Given the description of an element on the screen output the (x, y) to click on. 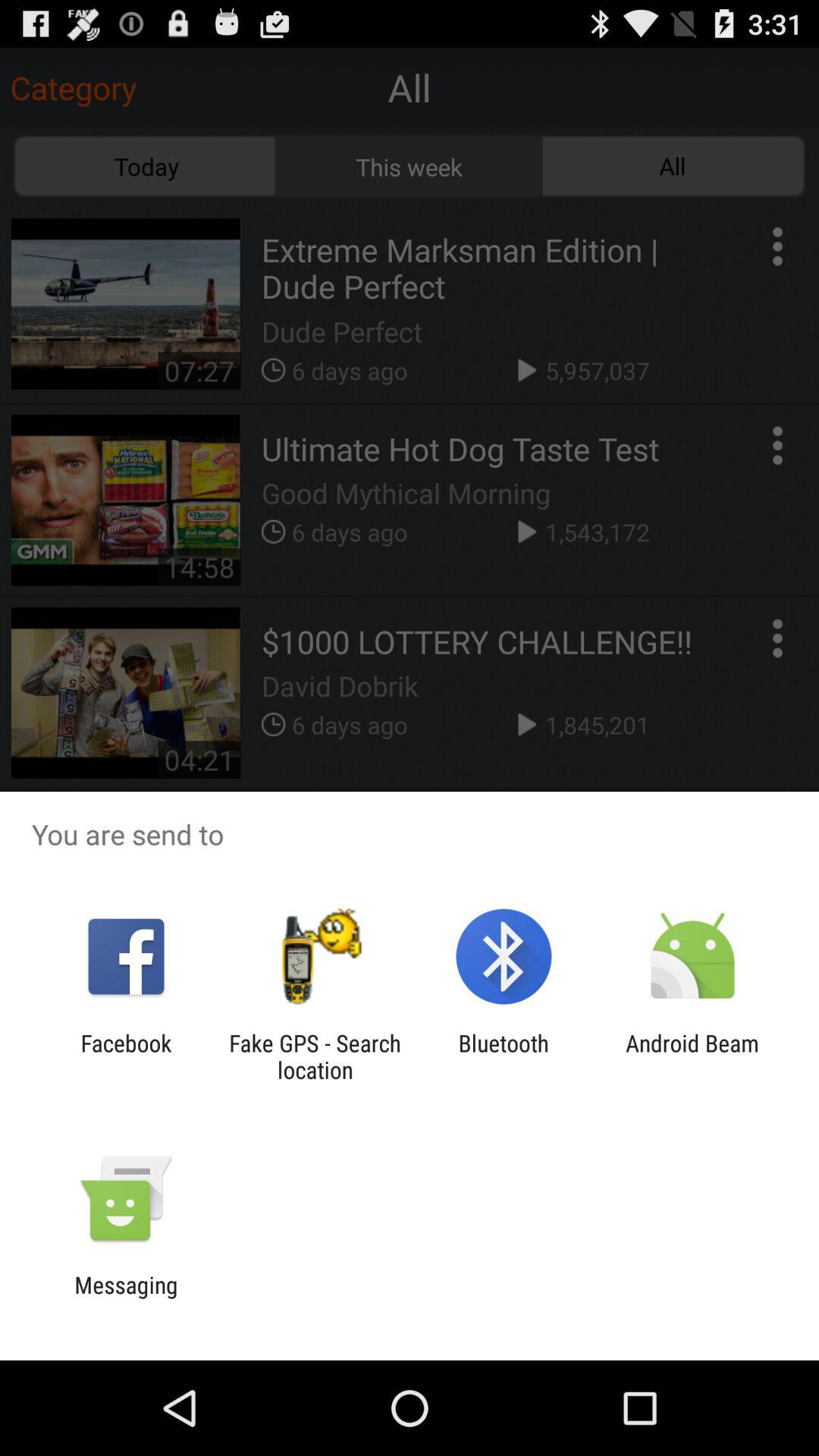
open app to the left of the android beam app (503, 1056)
